Given the description of an element on the screen output the (x, y) to click on. 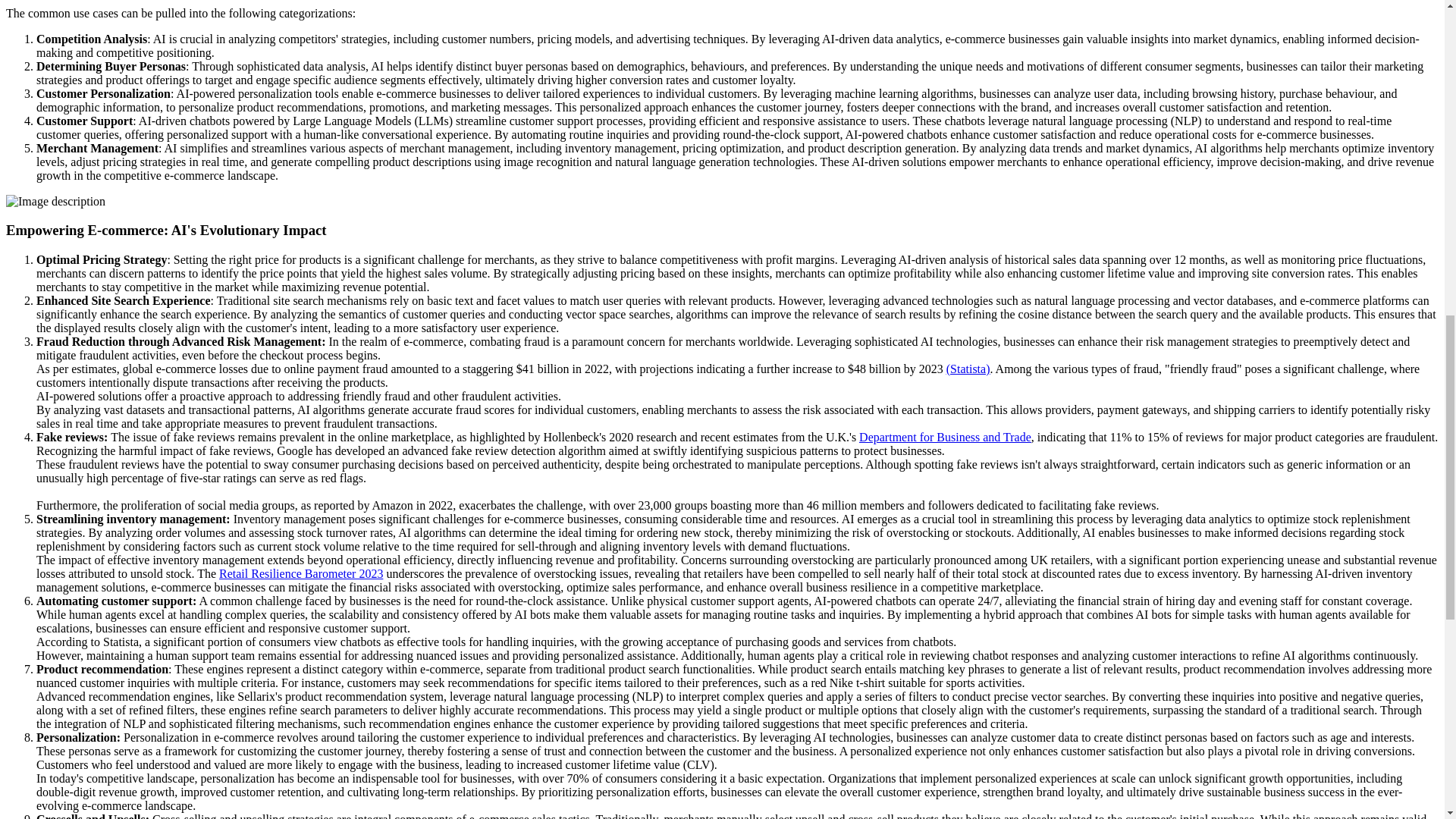
Retail Resilience Barometer 2023 (300, 573)
Department for Business and Trade (944, 436)
